Given the description of an element on the screen output the (x, y) to click on. 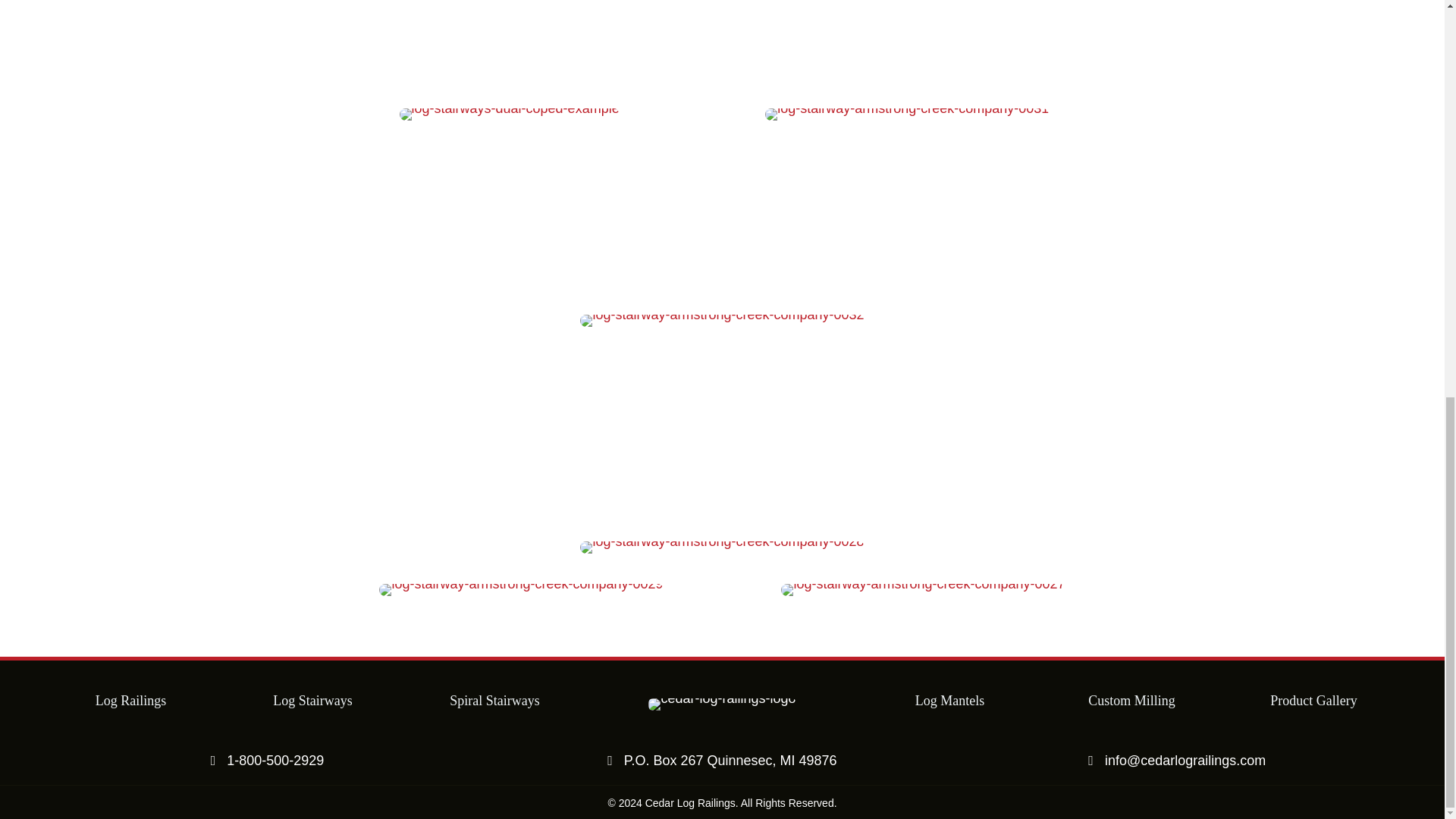
log-stairway-armstrong-creek-company-0032 (721, 320)
Spiral Stairways (494, 700)
Log Mantels (950, 700)
log-stairway-armstrong-creek-company-0029 (520, 589)
cedar-log-railings-logo (720, 704)
Log Stairways (312, 700)
Log Railings (131, 700)
log-stairway-armstrong-creek-company-0031 (906, 114)
log-stairway-armstrong-creek-company-0027 (922, 589)
log-stairway-armstrong-creek-company-0028 (721, 547)
